Given the description of an element on the screen output the (x, y) to click on. 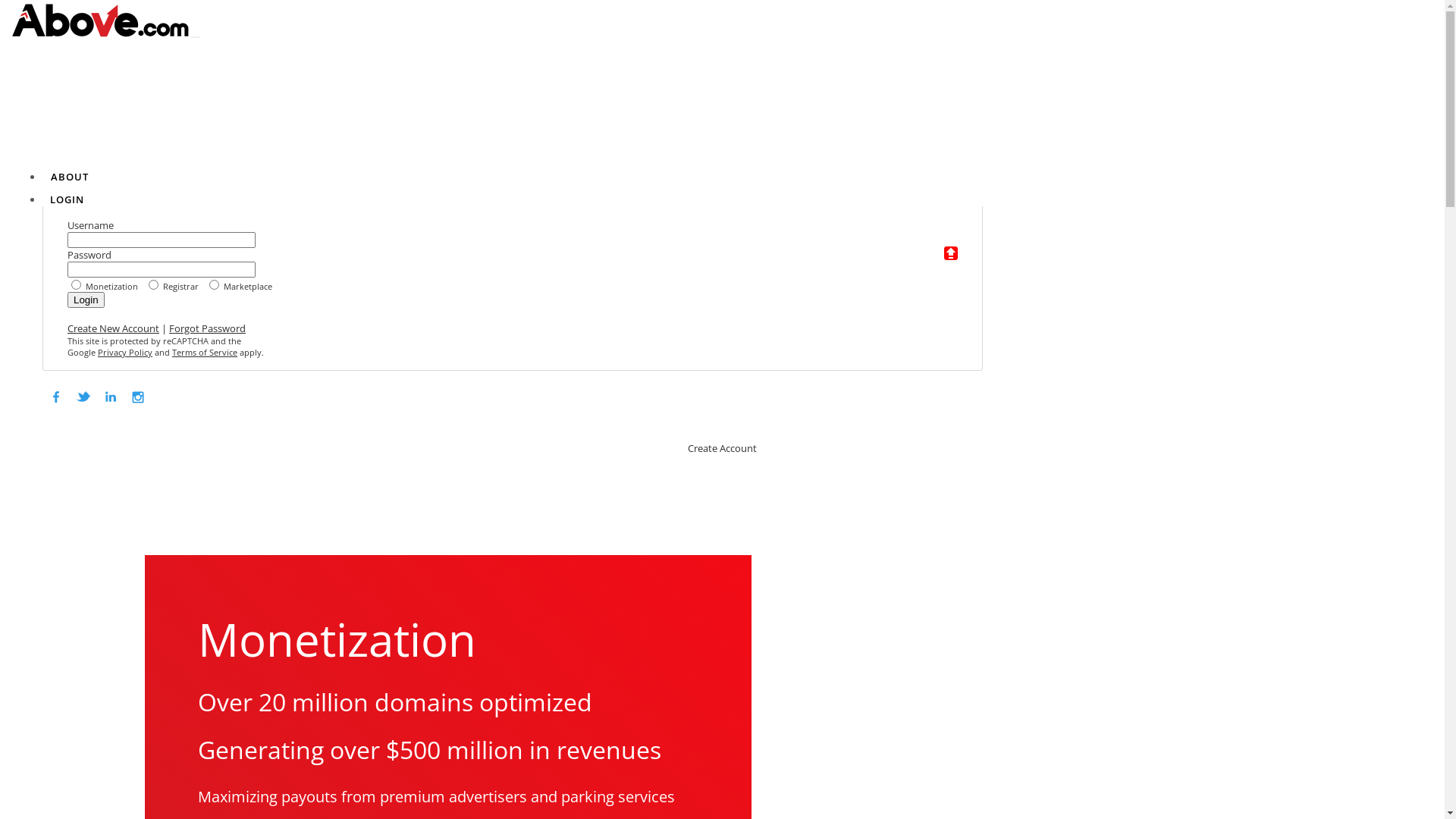
Registration Element type: text (920, 391)
ABOUT Element type: text (69, 176)
Marketplace Element type: text (666, 391)
Monetization Element type: text (527, 391)
Forgot Password Element type: text (207, 328)
Privacy Policy Element type: text (124, 351)
Brokerage Element type: text (794, 391)
Create Account Element type: text (721, 448)
LOGIN Element type: text (67, 199)
Terms of Service Element type: text (204, 351)
Monetization   Registrar   Marketplace Element type: text (512, 284)
Create New Account Element type: text (113, 328)
Login Element type: text (85, 299)
